Given the description of an element on the screen output the (x, y) to click on. 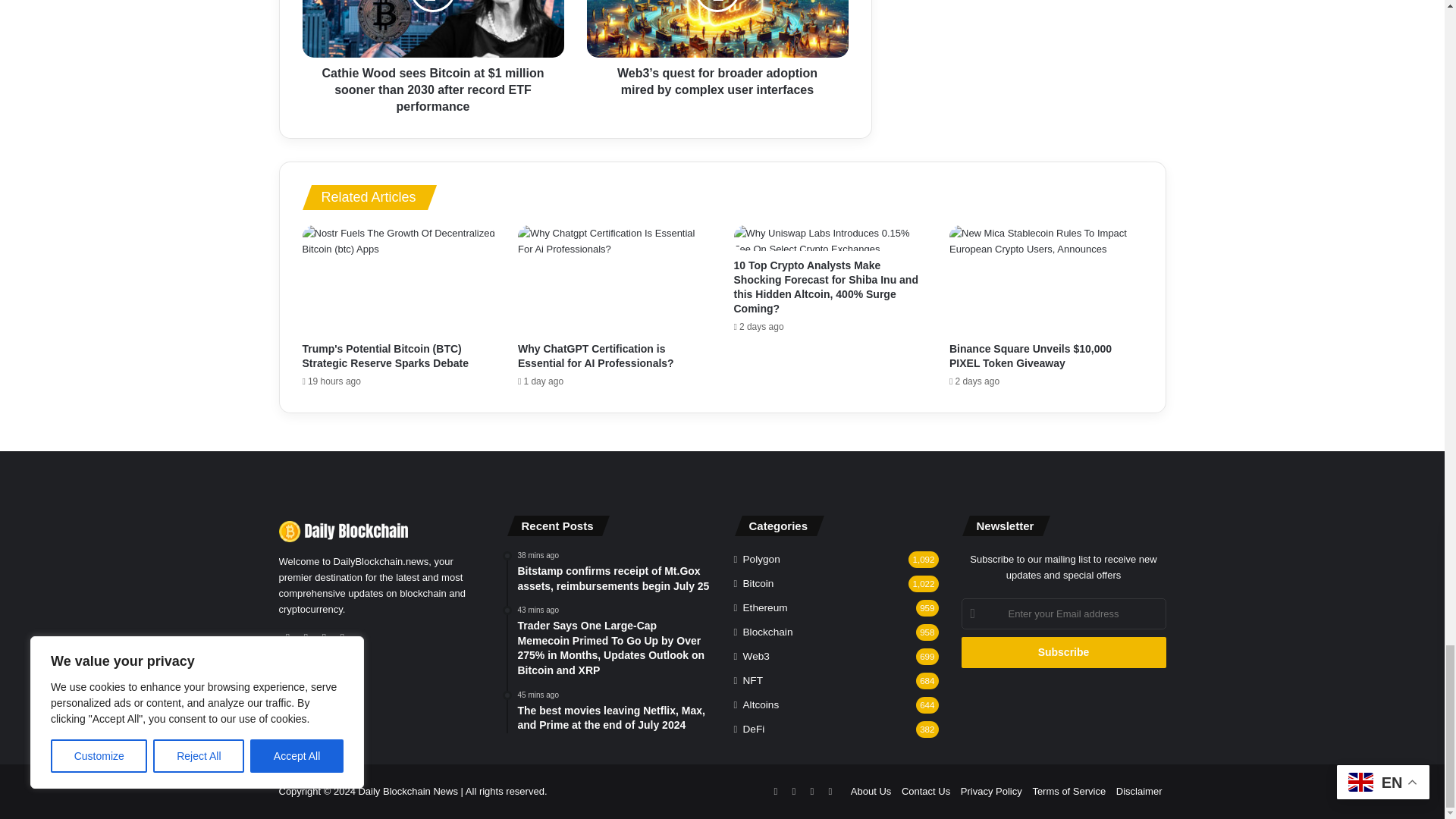
Subscribe (1063, 652)
